Given the description of an element on the screen output the (x, y) to click on. 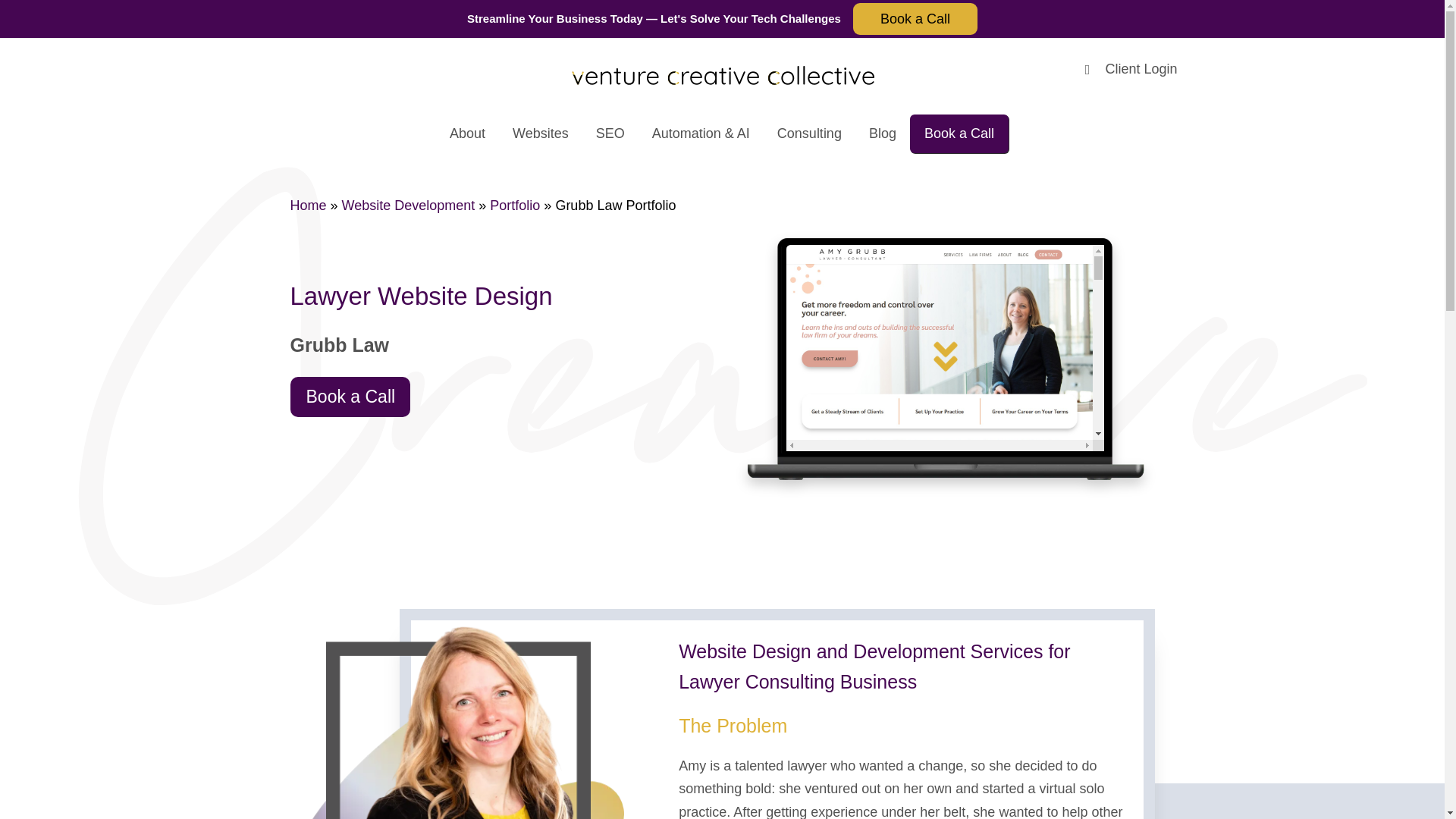
SEO (610, 133)
About (467, 133)
Websites (540, 133)
Book a Call (914, 18)
Client Login (1140, 68)
